Given the description of an element on the screen output the (x, y) to click on. 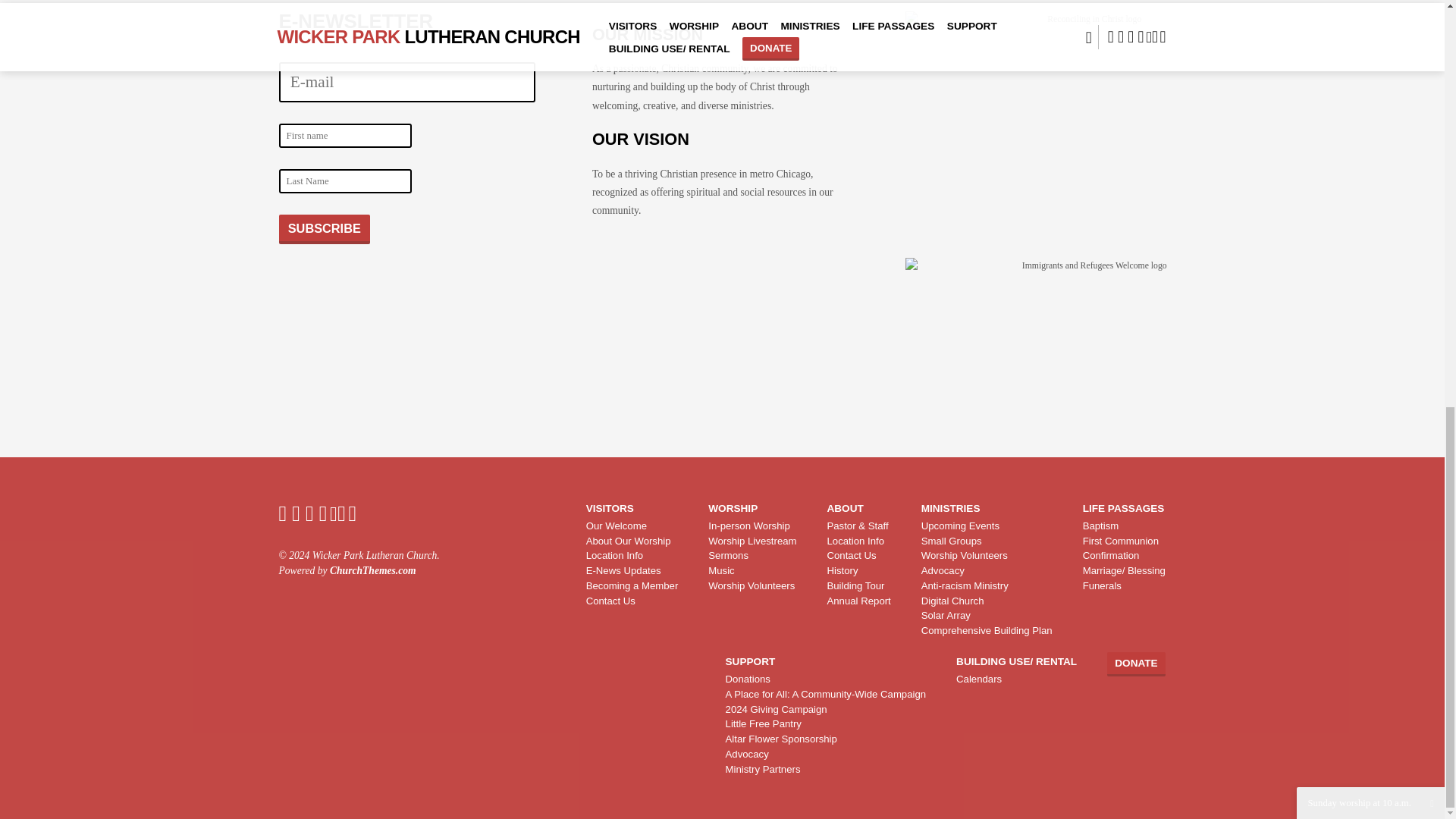
Subscribe (325, 228)
